Given the description of an element on the screen output the (x, y) to click on. 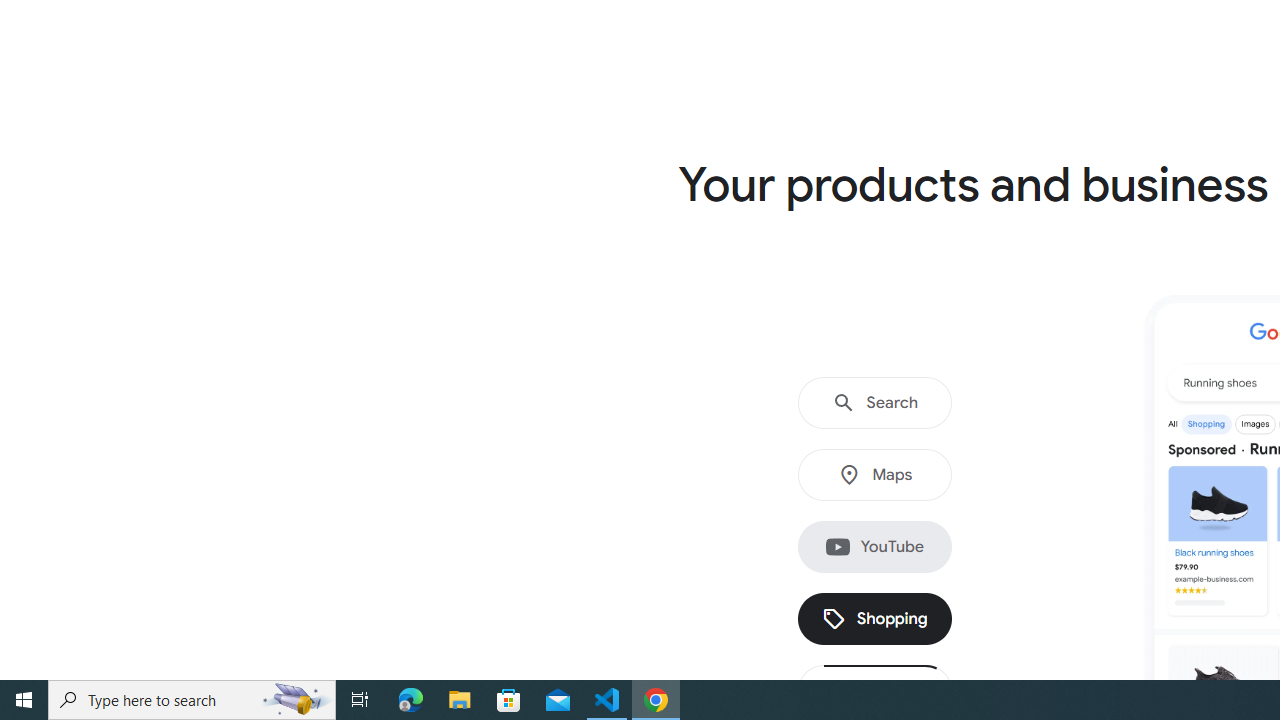
Images (874, 691)
Maps (874, 475)
YouTube (874, 547)
Shopping (874, 619)
